Given the description of an element on the screen output the (x, y) to click on. 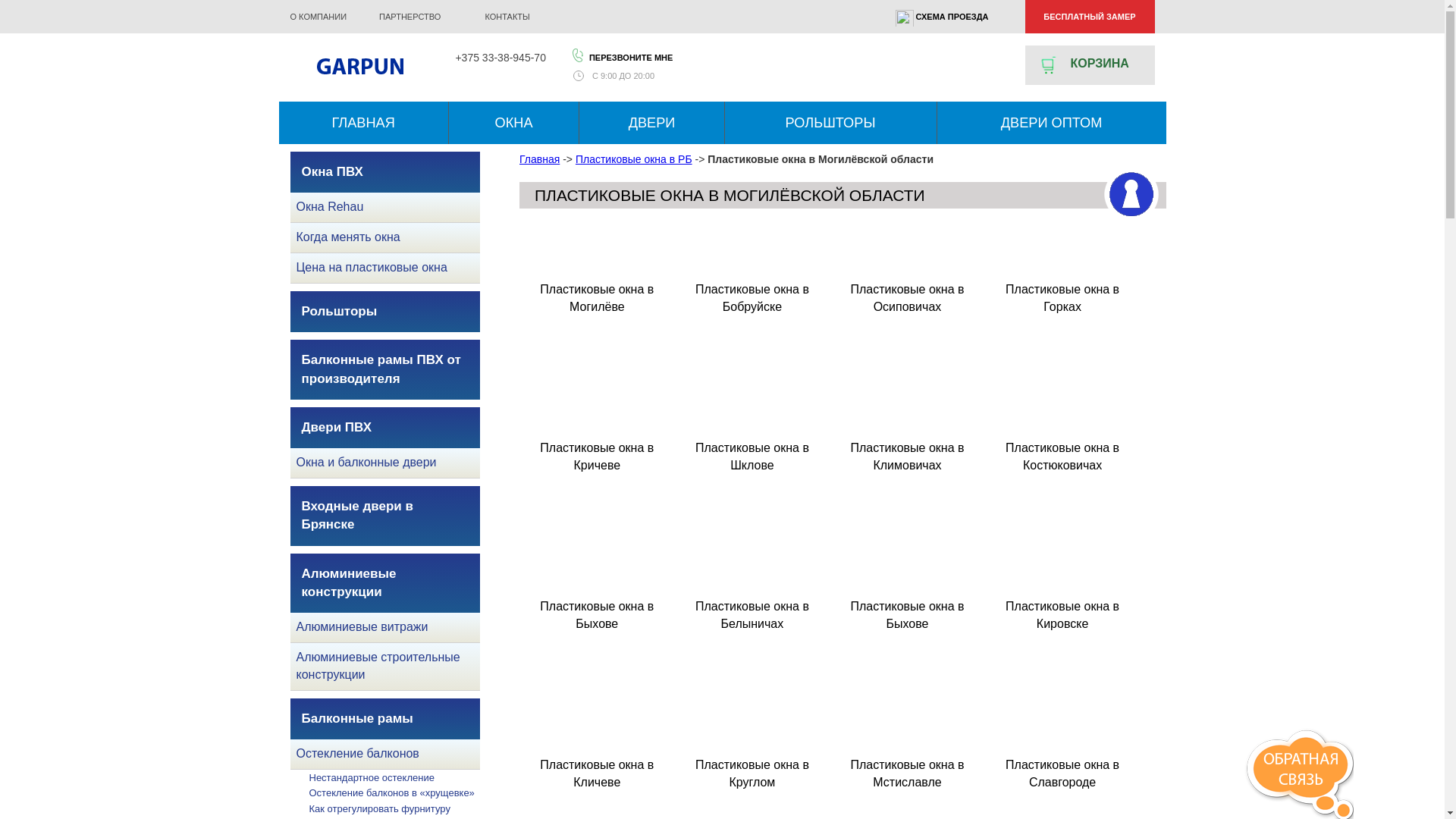
+375 33-38-945-70 Element type: text (499, 57)
